Given the description of an element on the screen output the (x, y) to click on. 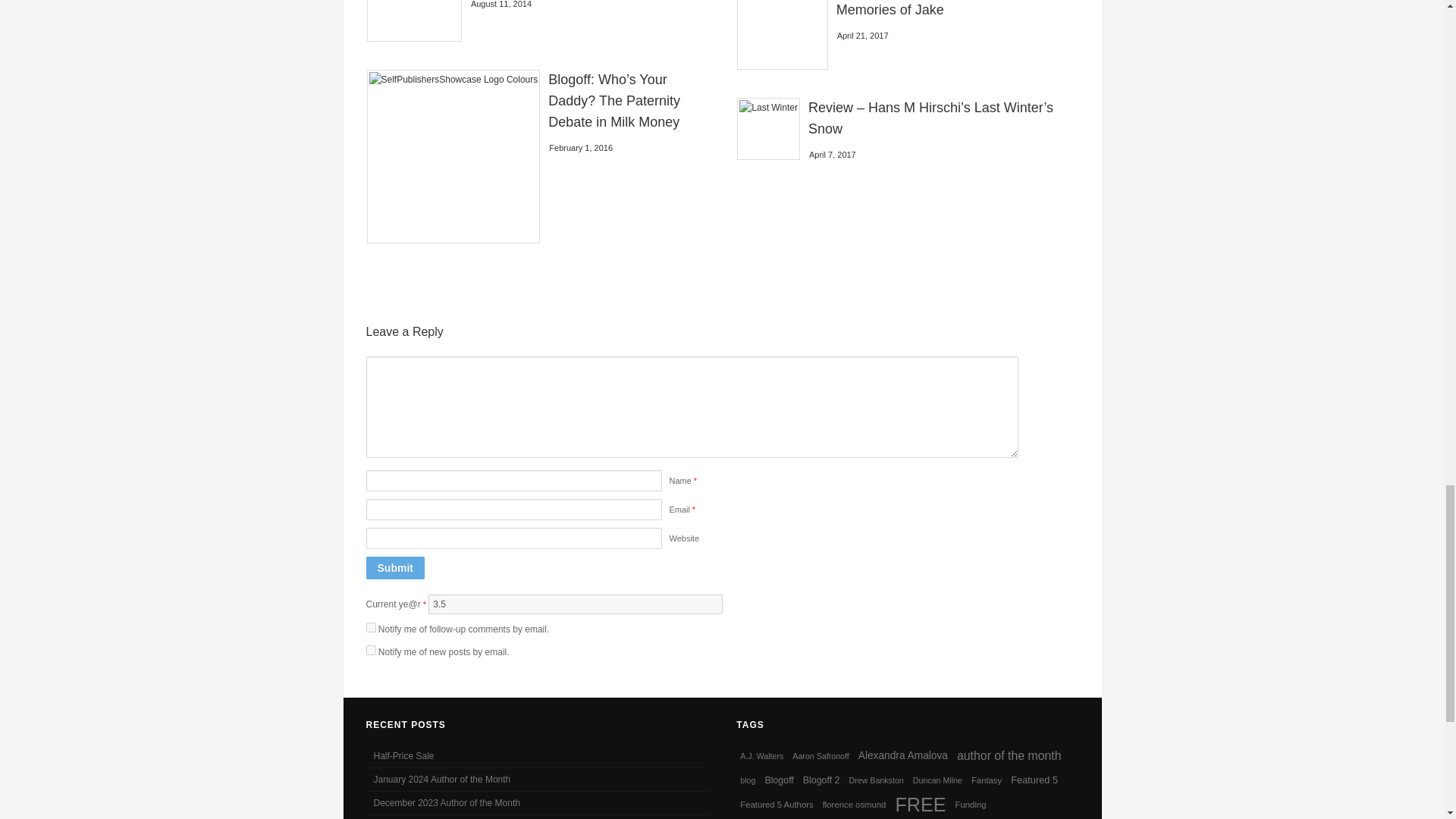
Monday, August 11th, 2014, 9:52 pm (500, 4)
subscribe (370, 627)
August 11, 2014 (500, 4)
February 1, 2016 (580, 147)
Submit (394, 567)
3.5 (575, 604)
Guest Post: How exactly does an author write? by V.E. Bystry (413, 20)
subscribe (370, 650)
